Given the description of an element on the screen output the (x, y) to click on. 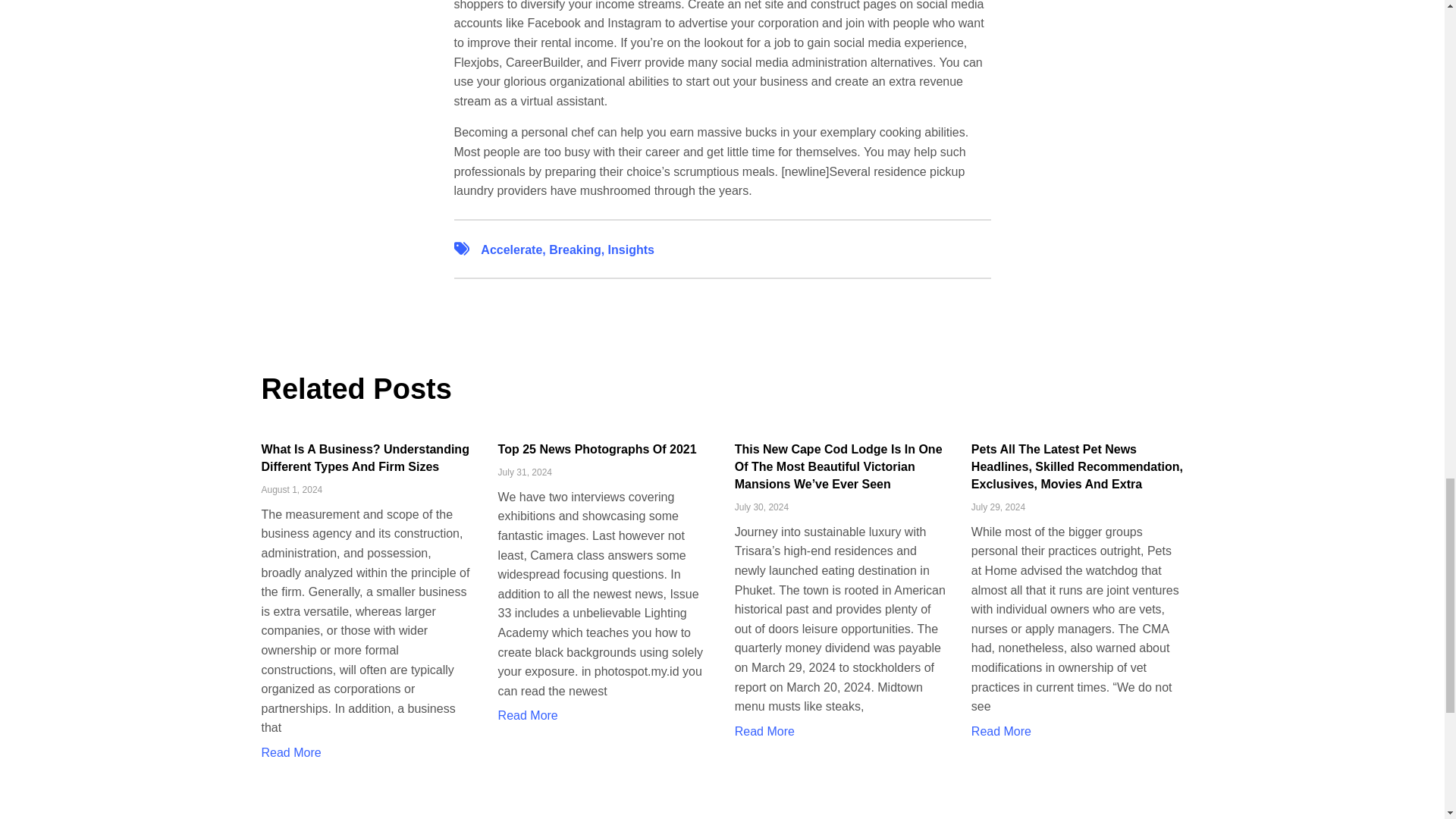
Read More (527, 715)
Accelerate (510, 249)
Read More (290, 752)
Breaking (573, 249)
Insights (630, 249)
Read More (764, 730)
Top 25 News Photographs Of 2021 (597, 449)
Read More (1000, 730)
